Given the description of an element on the screen output the (x, y) to click on. 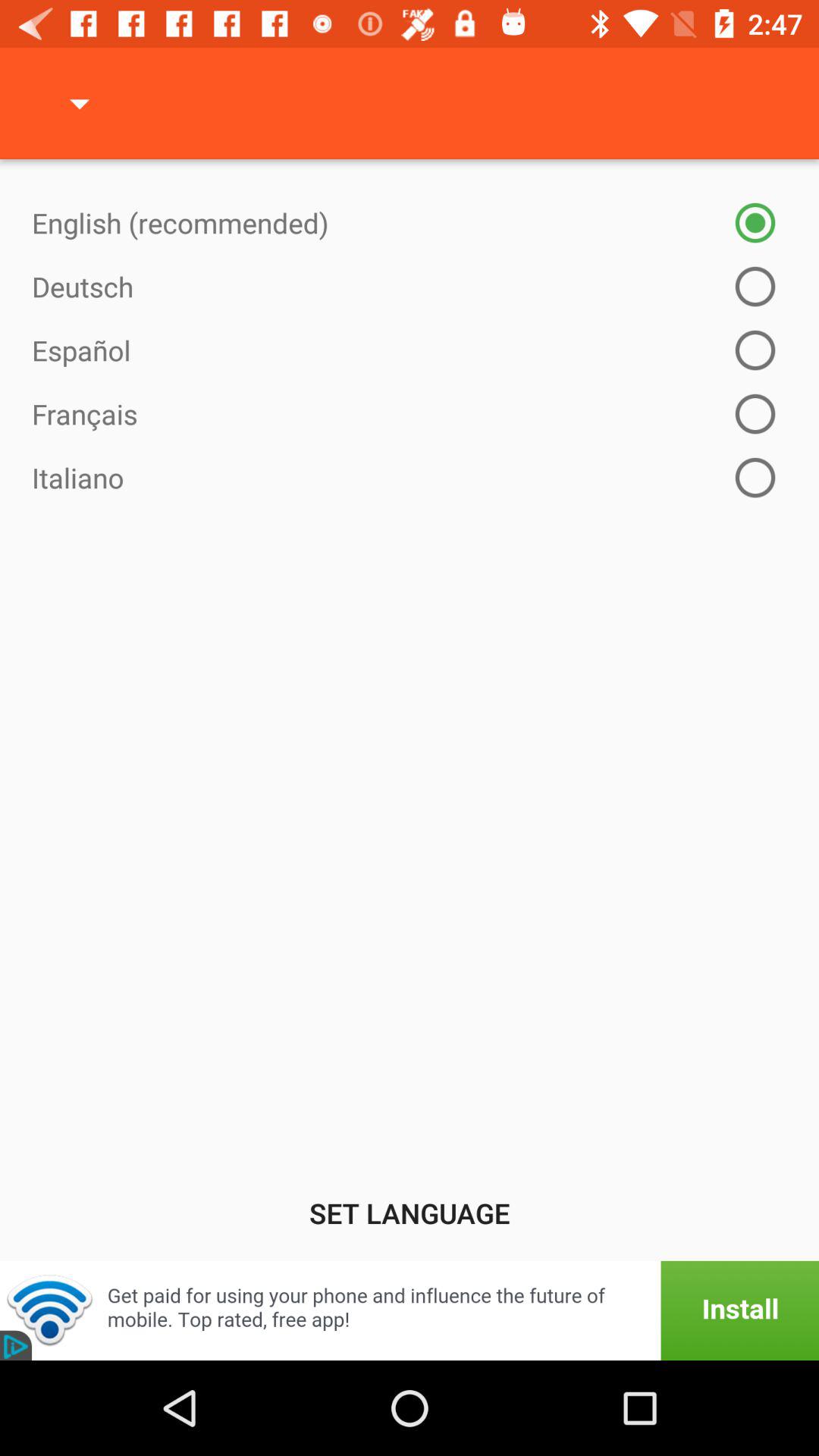
launch set language item (409, 1212)
